Given the description of an element on the screen output the (x, y) to click on. 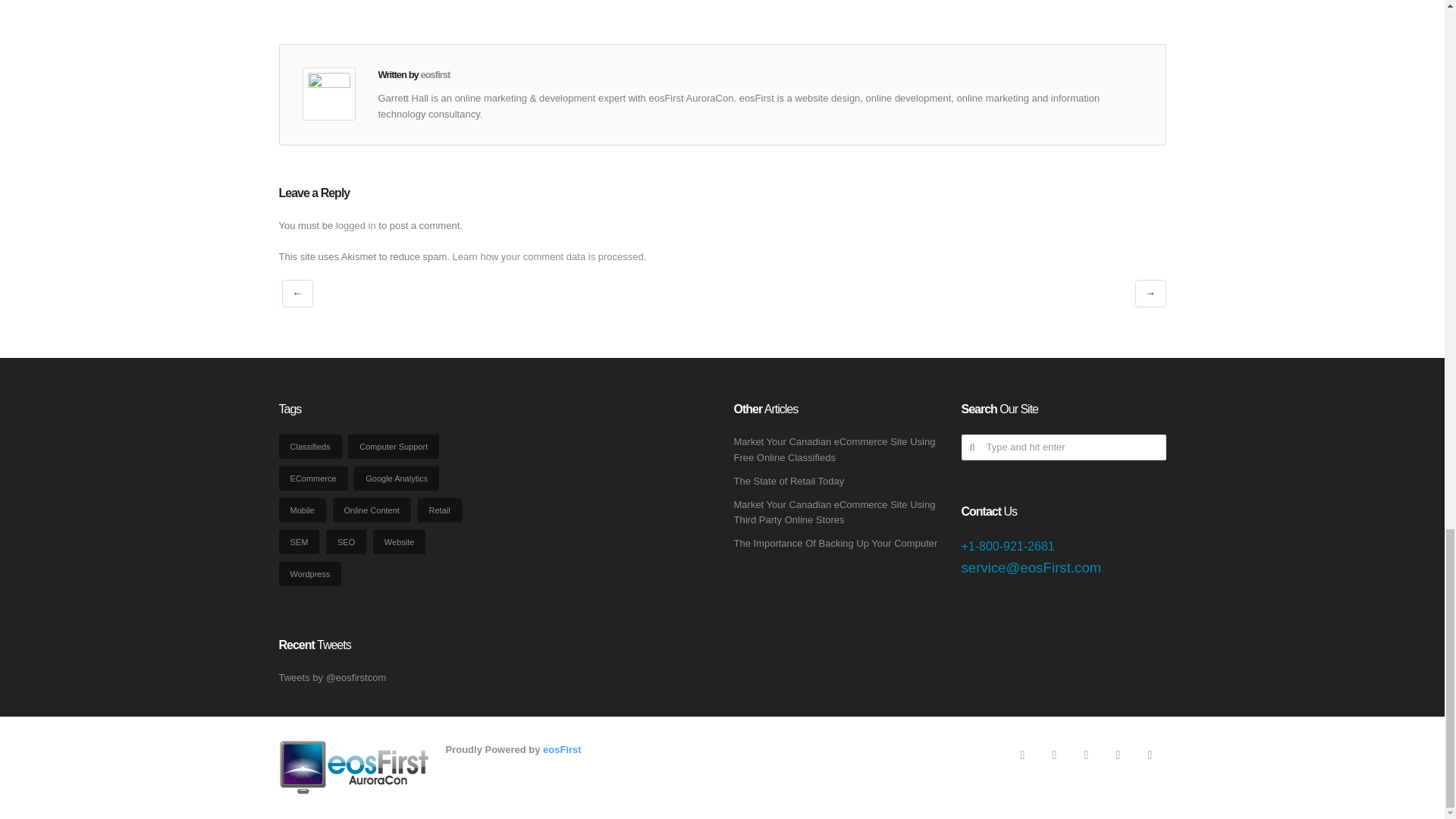
Link to How To Market Your eCommerce Site in Canada (834, 512)
eosFirst can bring your website to Life! (561, 749)
twitter (1086, 755)
gplus (1054, 755)
linkedin (1150, 755)
Link to How To Market Your eCommerce Site in Canada (834, 449)
Posts by eosfirst (434, 74)
Link to The Importance Of Backing Up Your Computer (835, 542)
Link to The State of Retail Today (788, 480)
youtube (1118, 755)
